Given the description of an element on the screen output the (x, y) to click on. 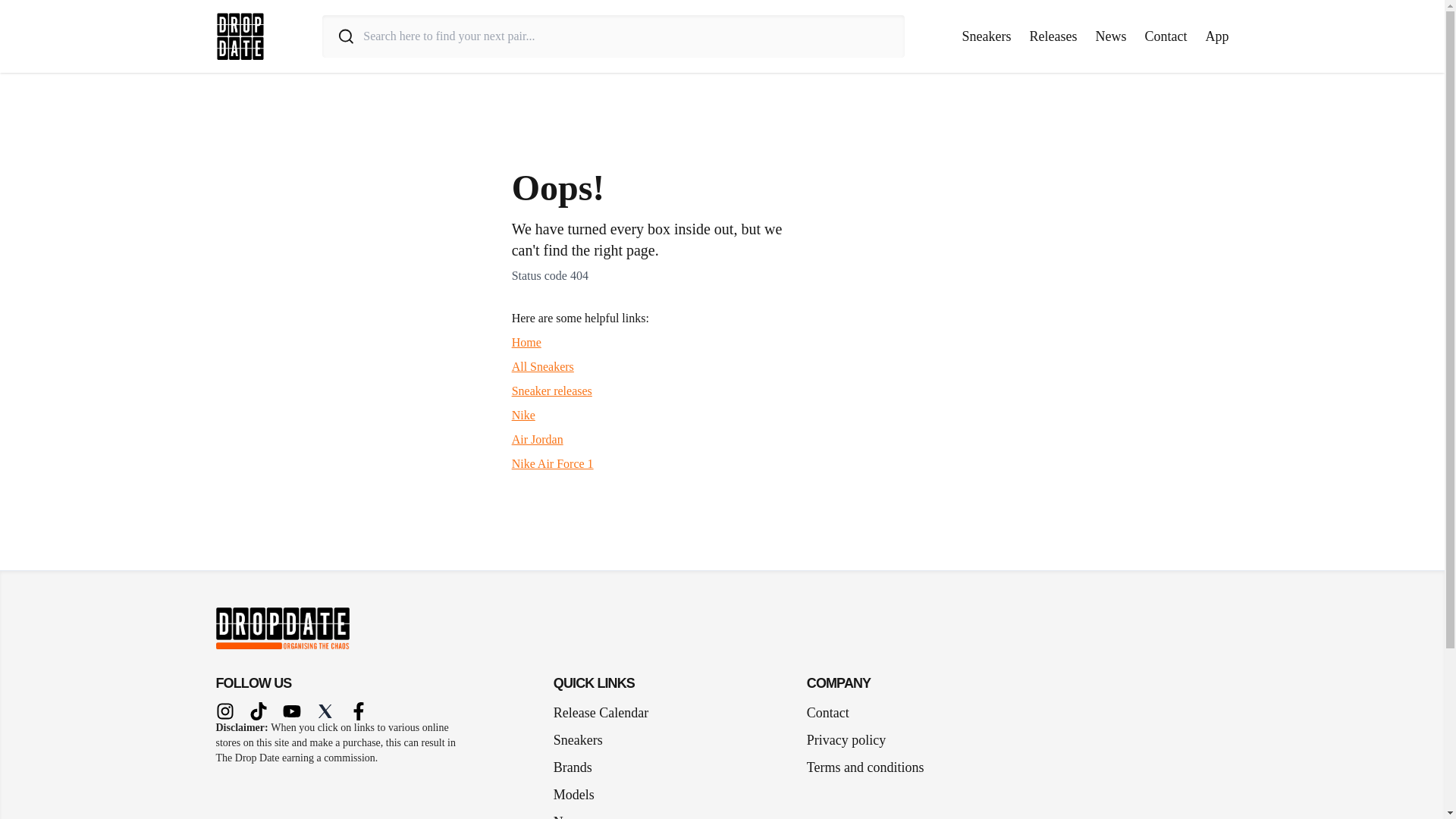
All Sneakers (542, 366)
Nike (523, 414)
Terms and conditions (865, 767)
Contact (827, 712)
Air Jordan (537, 439)
Release Calendar (600, 712)
News (1109, 36)
Brands (578, 767)
Sneakers (986, 36)
Releases (1053, 36)
